Given the description of an element on the screen output the (x, y) to click on. 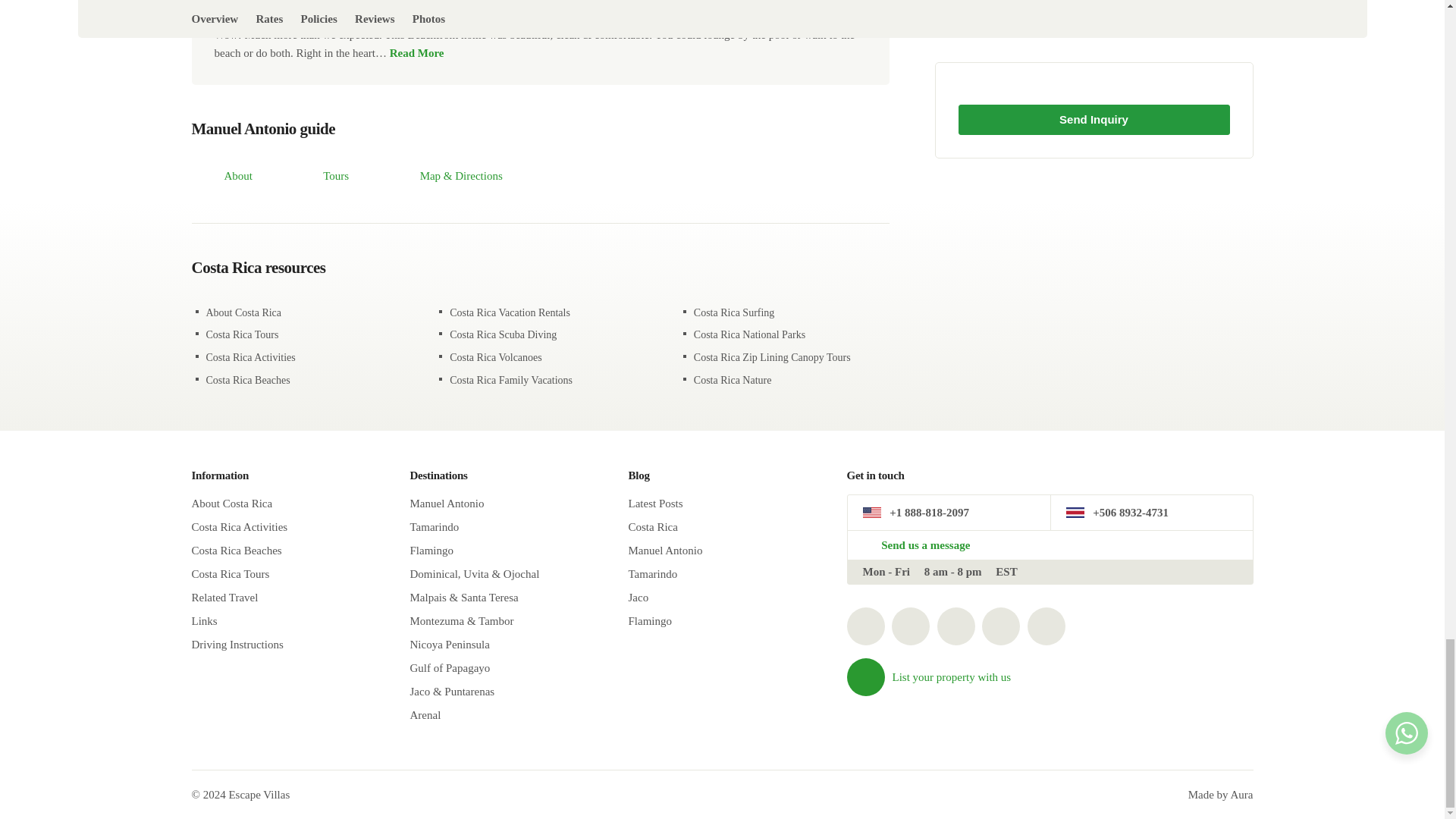
Costa Rica Activities (250, 357)
Tours (319, 177)
Costa Rica Vacation Rentals (509, 312)
About Costa Rica (244, 312)
Costa Rica Tours (242, 334)
Costa Rica Nature (732, 378)
Costa Rica Surfing (734, 312)
Costa Rica Zip Lining Canopy Tours (772, 357)
Costa Rica National Parks (749, 334)
Costa Rica Beaches (247, 378)
